Given the description of an element on the screen output the (x, y) to click on. 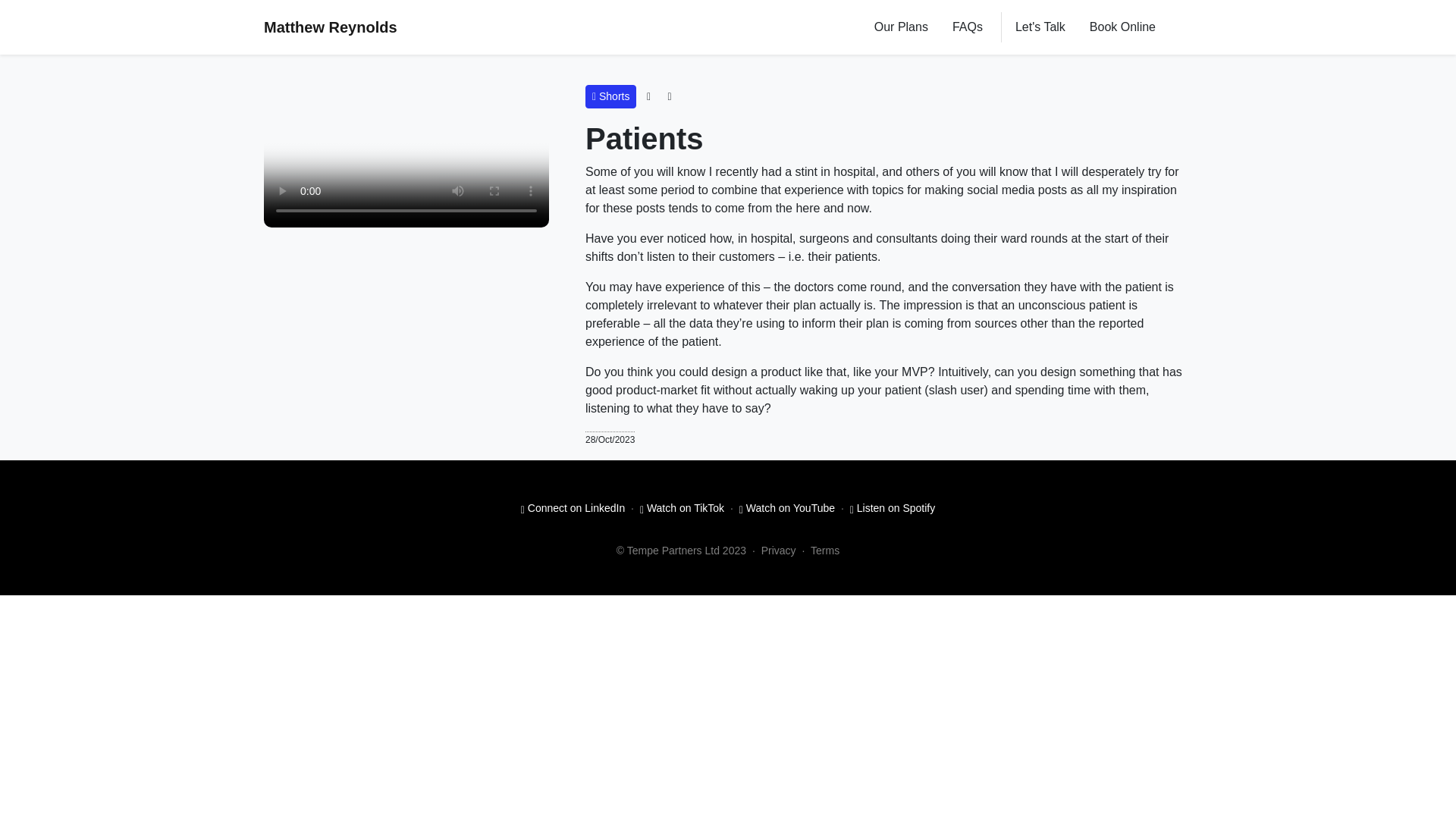
Listen on Spotify (893, 508)
Let's Talk (1040, 27)
Watch on TikTok (681, 508)
Matthew Reynolds (330, 27)
Privacy (778, 550)
Connect on LinkedIn (572, 508)
Our Plans (900, 27)
Watch on YouTube (786, 508)
FAQs (967, 27)
Book Online (1122, 27)
Terms (825, 550)
Shorts (610, 96)
